Given the description of an element on the screen output the (x, y) to click on. 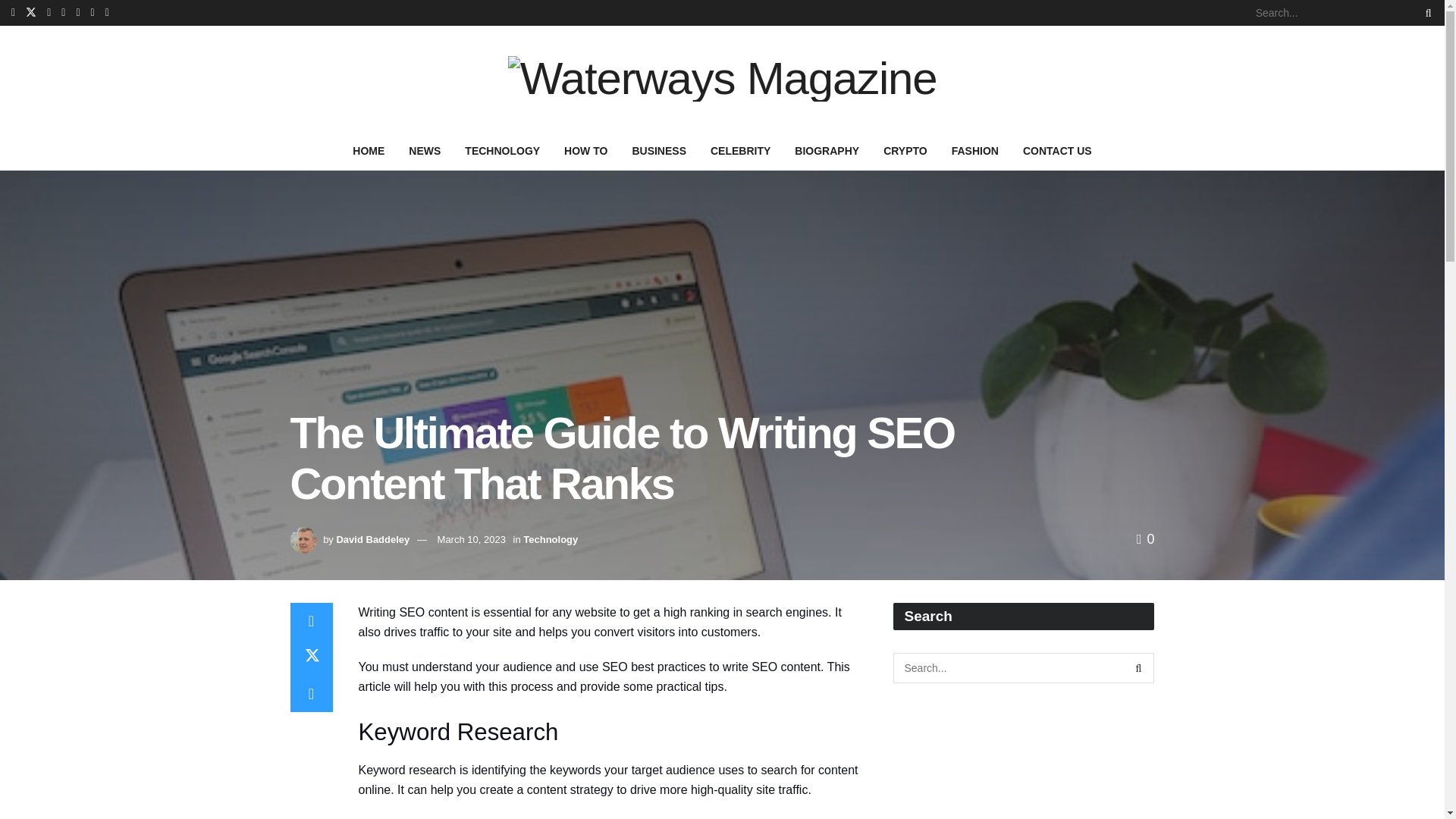
Technology (550, 539)
March 10, 2023 (471, 539)
CONTACT US (1056, 150)
David Baddeley (372, 539)
FASHION (974, 150)
NEWS (424, 150)
CELEBRITY (740, 150)
HOW TO (585, 150)
BUSINESS (659, 150)
BIOGRAPHY (826, 150)
